Given the description of an element on the screen output the (x, y) to click on. 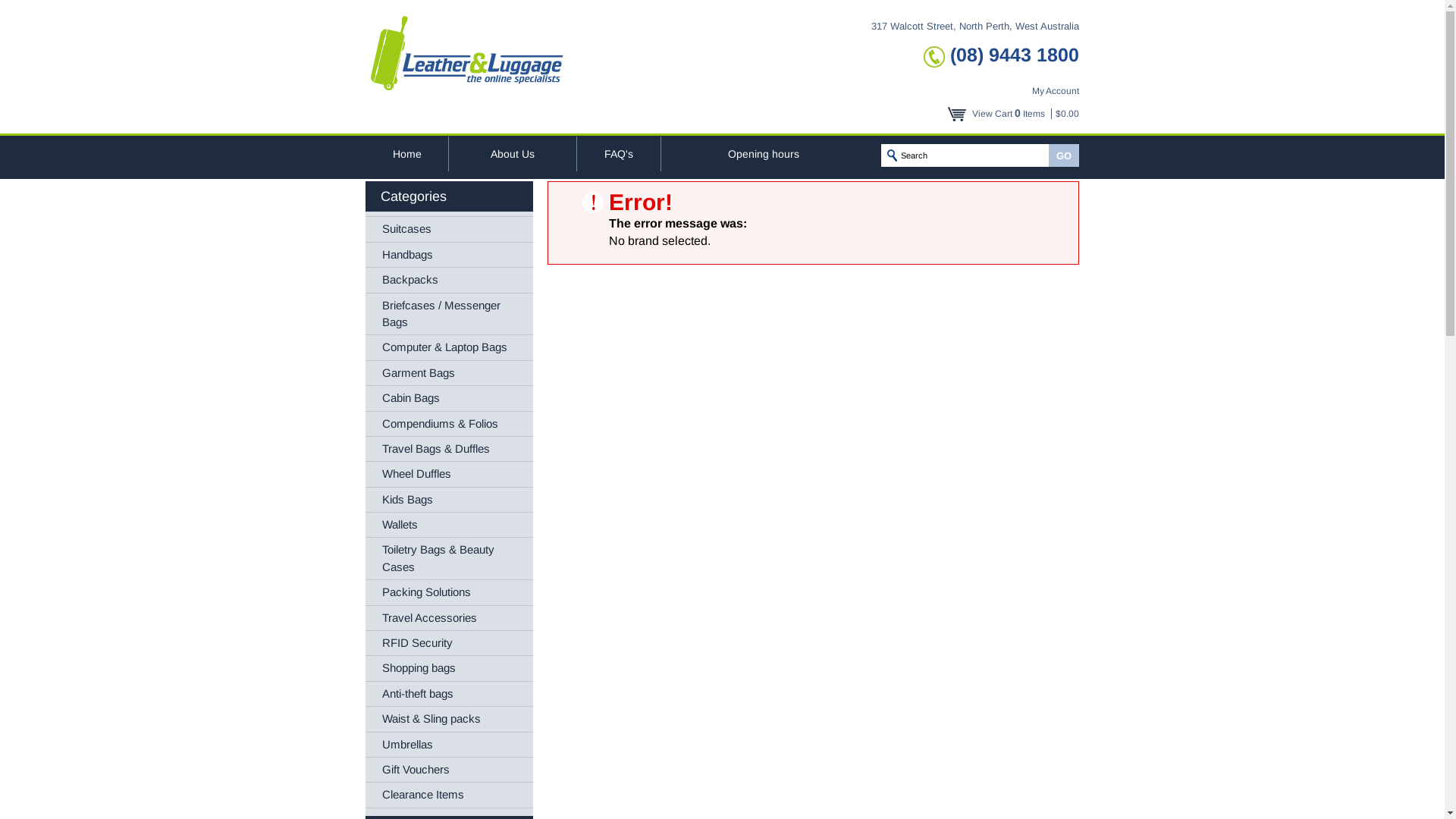
About Us Element type: text (512, 153)
Opening hours Element type: text (763, 153)
317 Walcott Street, North Perth, West Australia Element type: text (975, 25)
FAQ's Element type: text (619, 153)
Waist & Sling packs Element type: text (448, 718)
Gift Vouchers Element type: text (448, 769)
My Account Element type: text (1055, 90)
Computer & Laptop Bags Element type: text (448, 347)
View Cart Element type: text (992, 113)
Home Element type: text (406, 153)
Cabin Bags Element type: text (448, 398)
Wheel Duffles Element type: text (448, 473)
Search Element type: text (953, 155)
Travel Accessories Element type: text (448, 617)
Umbrellas Element type: text (448, 744)
Briefcases / Messenger Bags Element type: text (448, 314)
Garment Bags Element type: text (448, 372)
Go Element type: text (1063, 155)
Anti-theft bags Element type: text (448, 693)
Shopping bags Element type: text (448, 667)
RFID Security Element type: text (448, 642)
Wallets Element type: text (448, 524)
Clearance Items Element type: text (448, 794)
Handbags Element type: text (448, 254)
Suitcases Element type: text (448, 228)
Compendiums & Folios Element type: text (448, 423)
Travel Bags & Duffles Element type: text (448, 448)
Packing Solutions Element type: text (448, 592)
Kids Bags Element type: text (448, 499)
Toiletry Bags & Beauty Cases Element type: text (448, 558)
Backpacks Element type: text (448, 279)
